Given the description of an element on the screen output the (x, y) to click on. 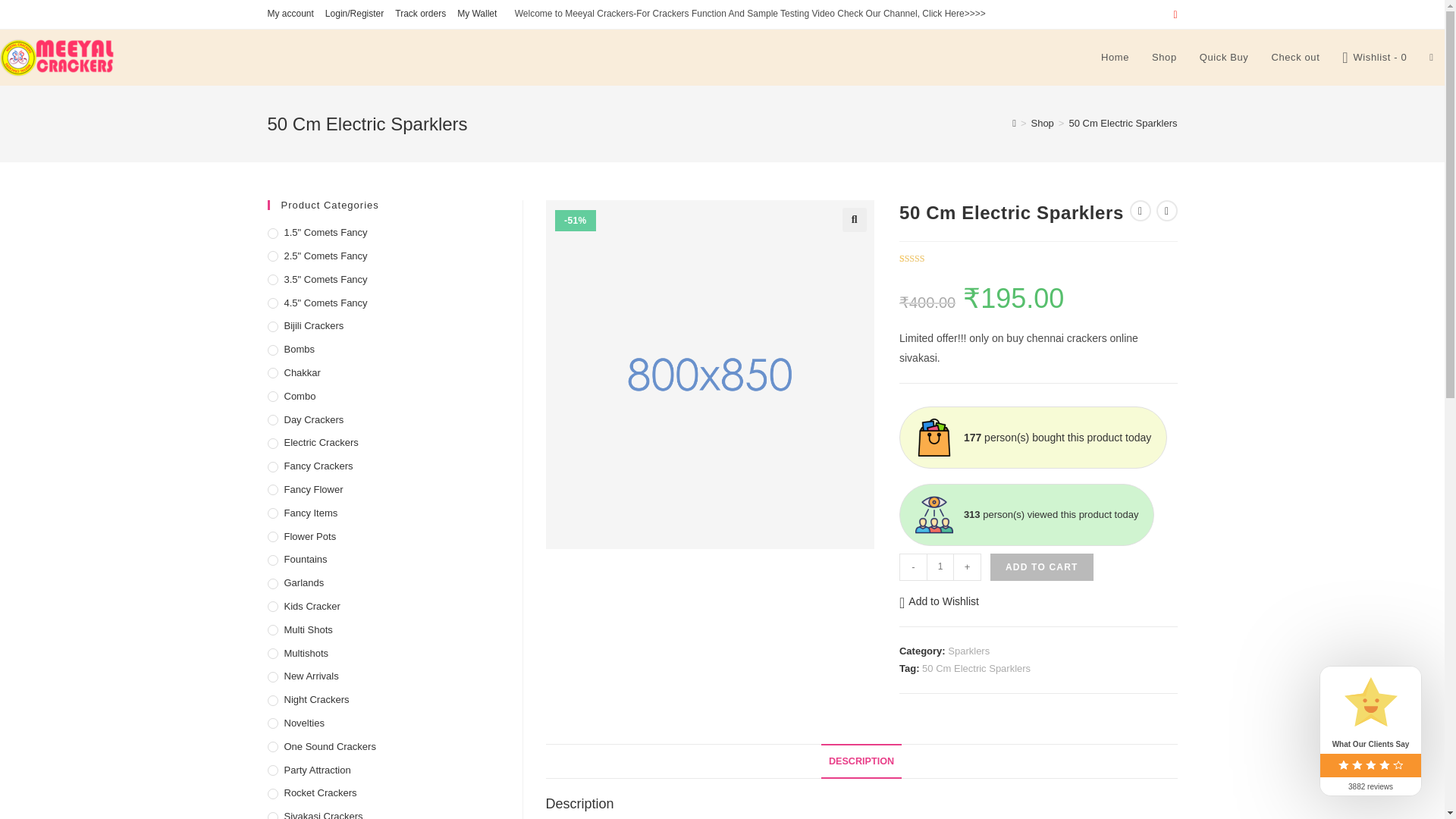
50 Cm Electric Sparklers (1122, 122)
Check out (1294, 57)
Wishlist - 0 (1374, 57)
Quick Buy (1224, 57)
1 (939, 566)
Track orders (419, 13)
Shop (1041, 122)
822 (1104, 24)
My Wallet (476, 13)
dummy.png (710, 373)
My account (289, 13)
Home (1114, 57)
